Given the description of an element on the screen output the (x, y) to click on. 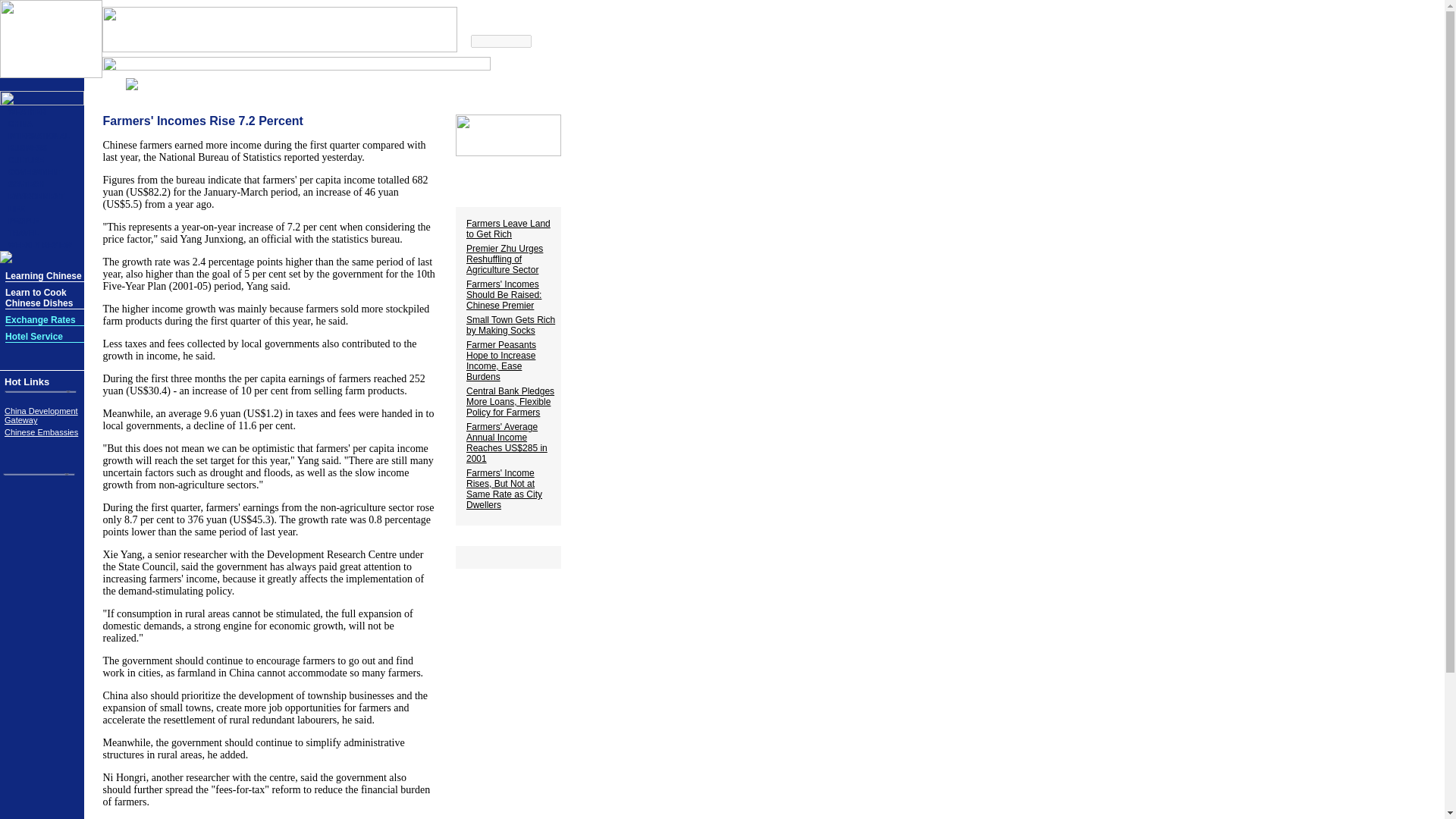
Central Bank Pledges More Loans, Flexible Policy for Farmers (509, 401)
Farmers' Income Rises, But Not at Same Rate as City Dwellers (503, 488)
Chinese Embassies (41, 431)
LIFE (16, 208)
WEEKLY REVIEW (39, 244)
Exchange Rates (40, 319)
INTERNATIONAL (38, 135)
BUSINESS (27, 148)
China Development Gateway (41, 415)
WEATHER (27, 111)
SCI-TECH (25, 184)
Small Town Gets Rich by Making Socks (509, 324)
TRAVEL (22, 233)
GOVERNMENT (35, 172)
PEOPLE (23, 221)
